Given the description of an element on the screen output the (x, y) to click on. 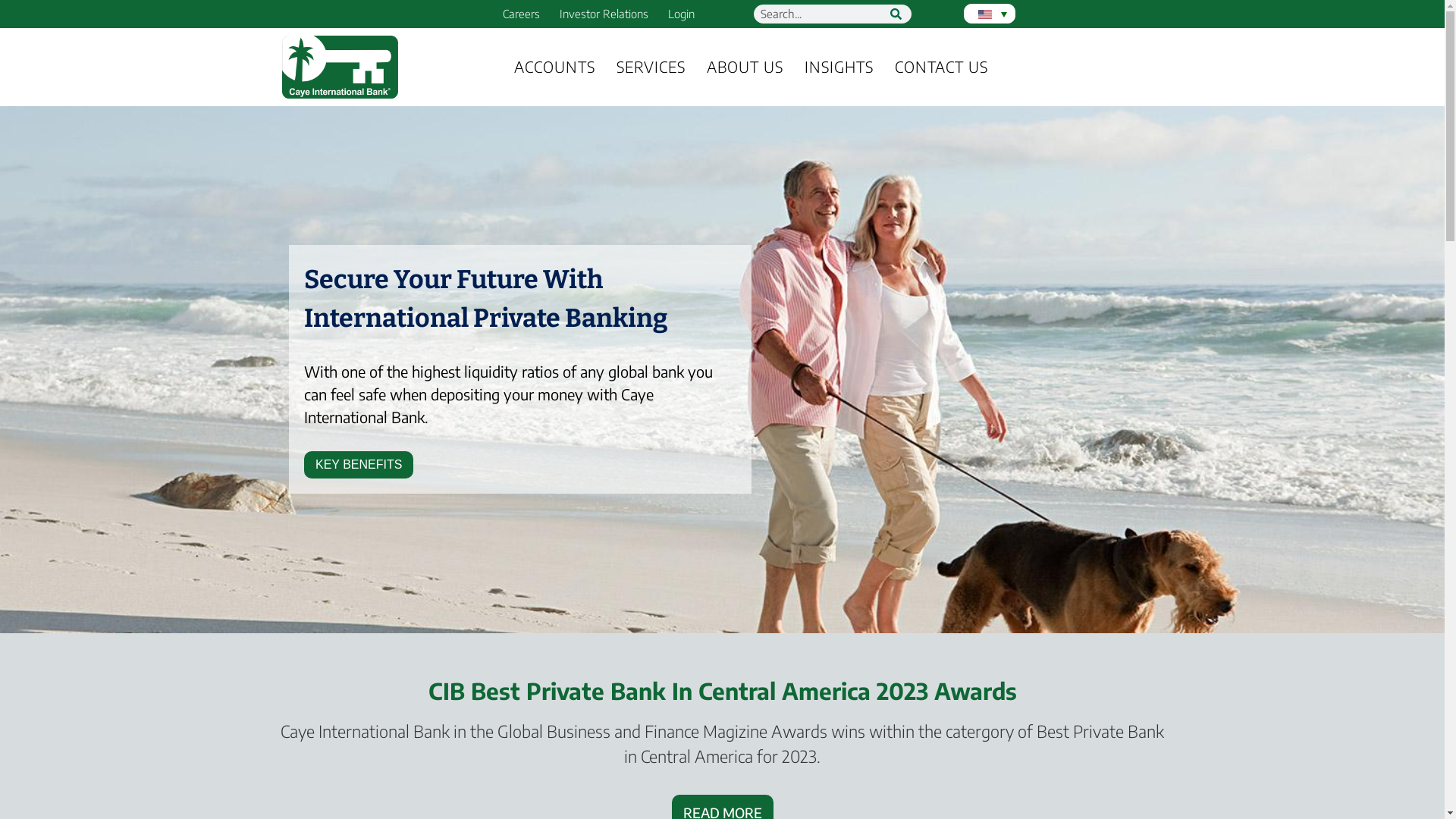
Careers Element type: text (520, 13)
SERVICES Element type: text (650, 66)
Investor Relations Element type: text (603, 13)
ABOUT US Element type: text (744, 66)
INSIGHTS Element type: text (838, 66)
ACCOUNTS Element type: text (554, 66)
CONTACT US Element type: text (941, 66)
KEY BENEFITS Element type: text (358, 464)
Login Element type: text (681, 13)
